Given the description of an element on the screen output the (x, y) to click on. 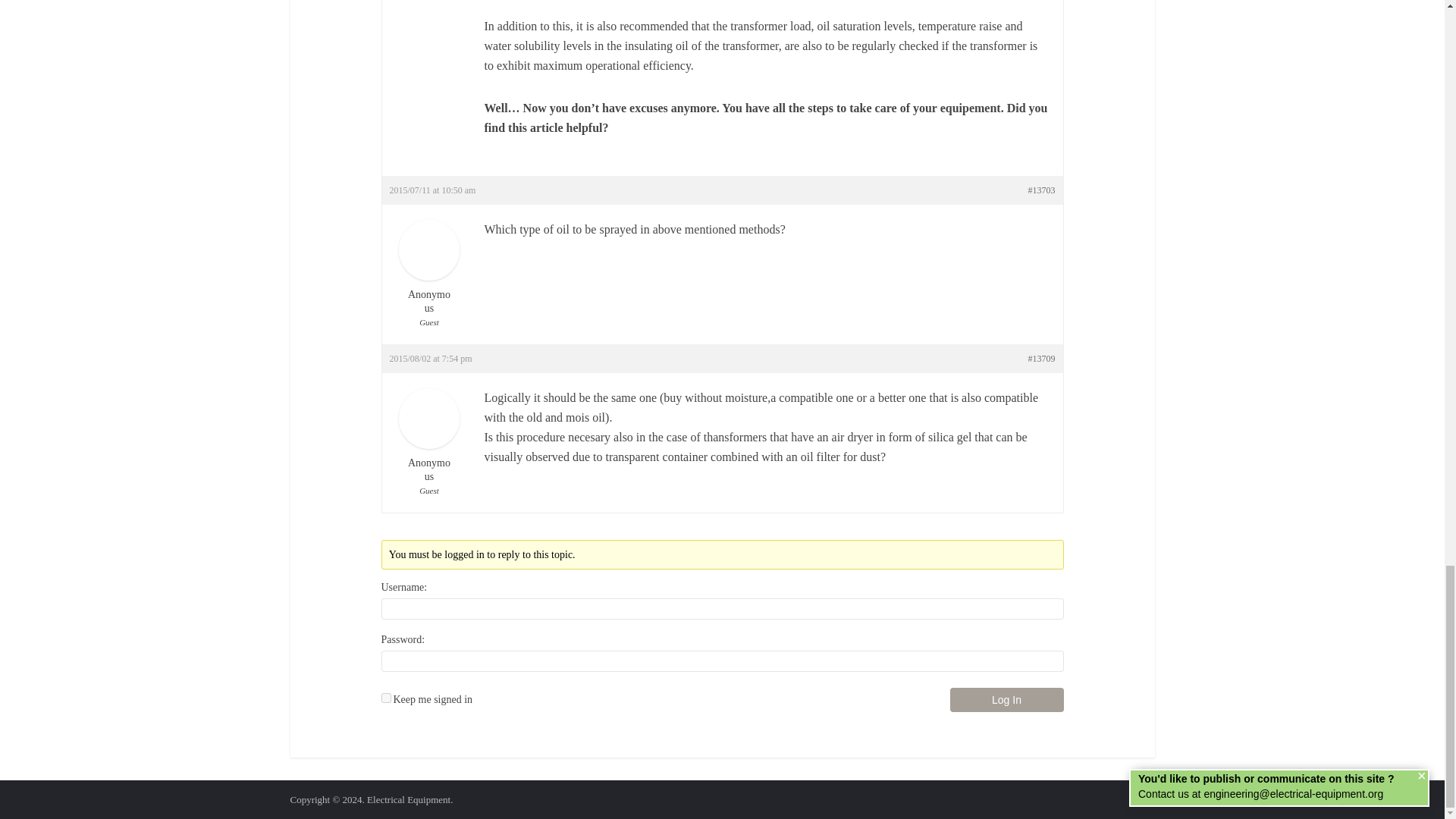
forever (385, 697)
